Given the description of an element on the screen output the (x, y) to click on. 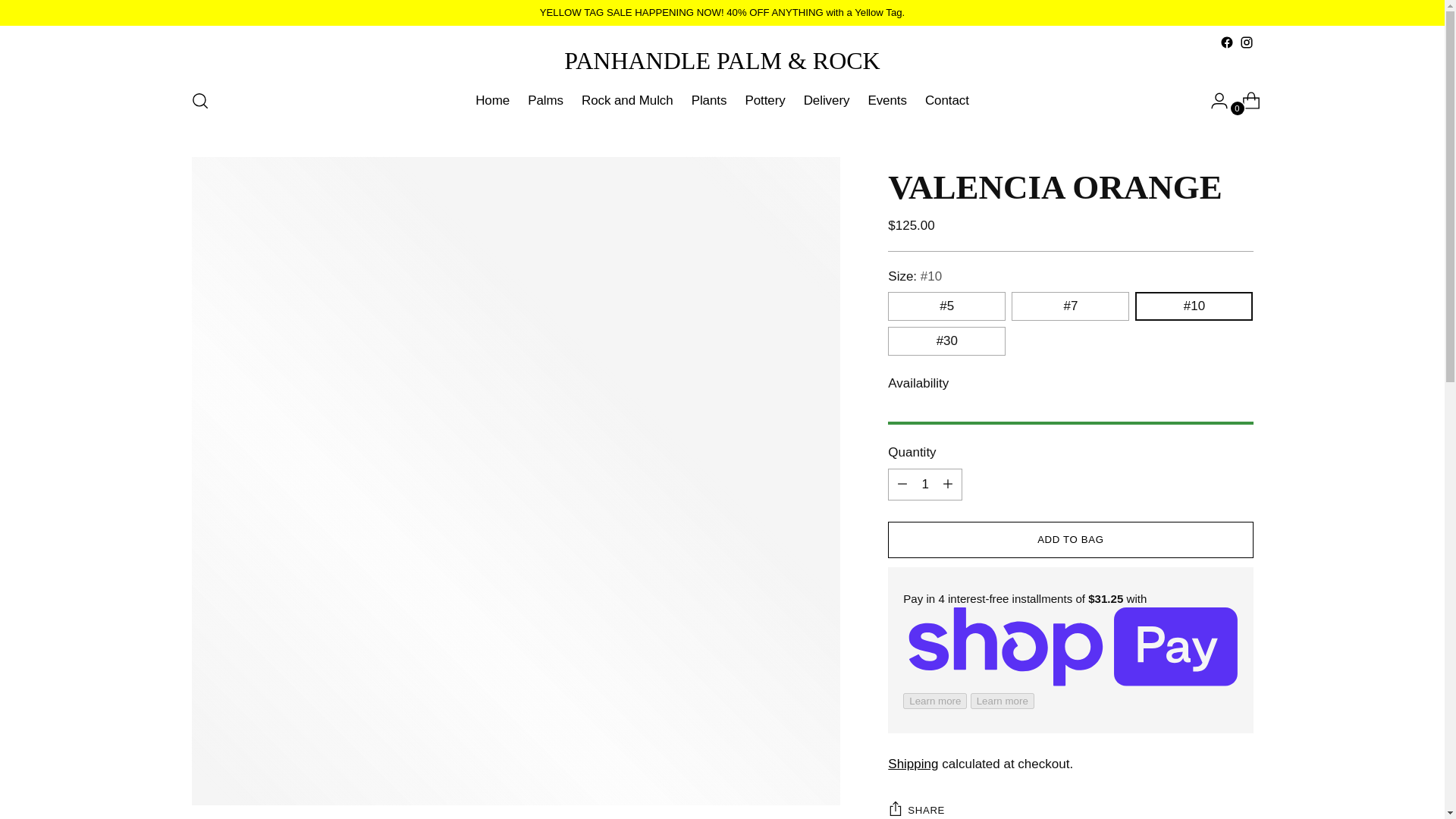
Pottery (764, 100)
Contact (946, 100)
1 (925, 484)
Home (492, 100)
Delivery (826, 100)
Events (886, 100)
0 (1245, 100)
Rock and Mulch (626, 100)
Plants (708, 100)
